Given the description of an element on the screen output the (x, y) to click on. 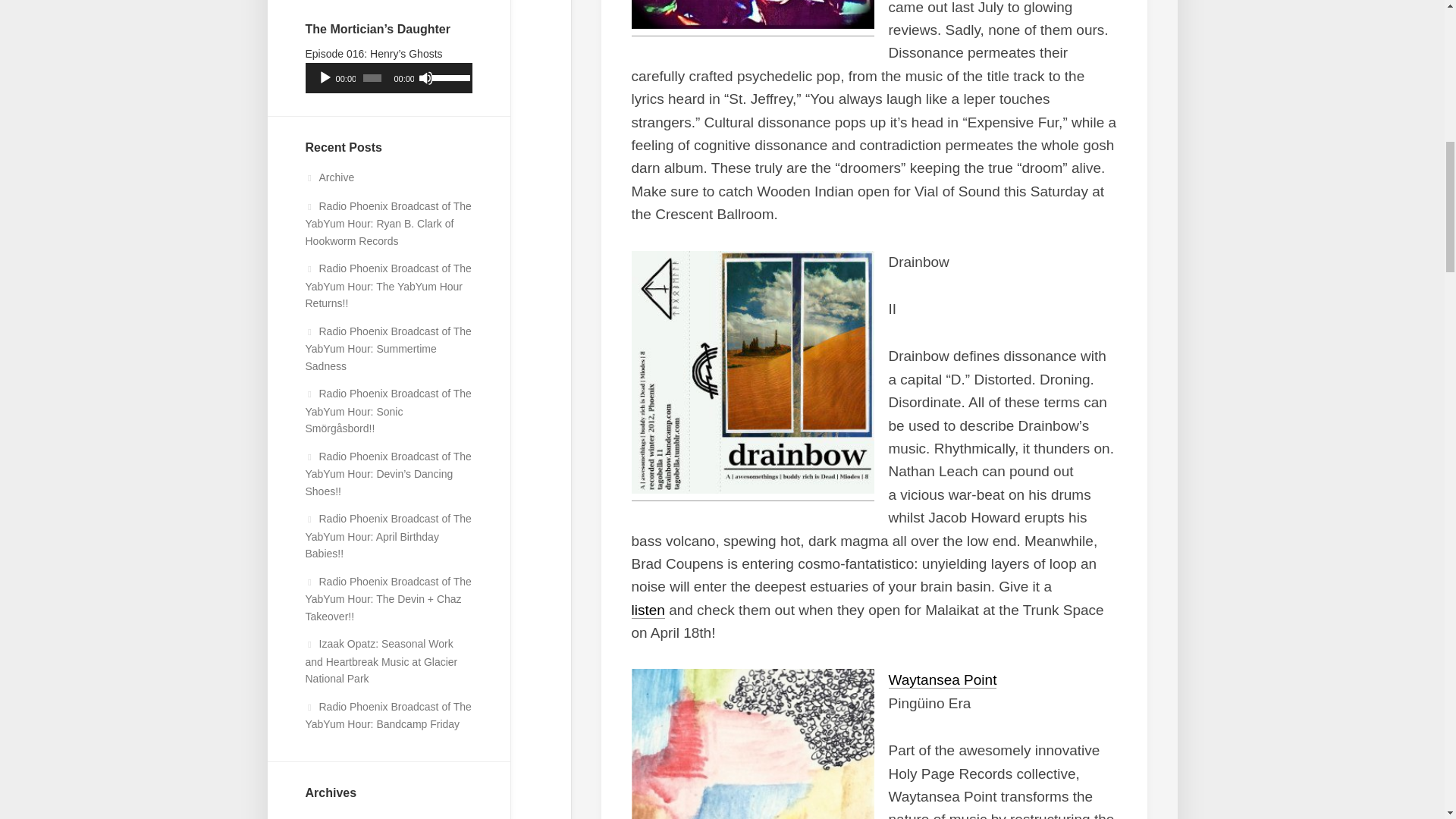
Mute (426, 77)
Play (324, 77)
